Given the description of an element on the screen output the (x, y) to click on. 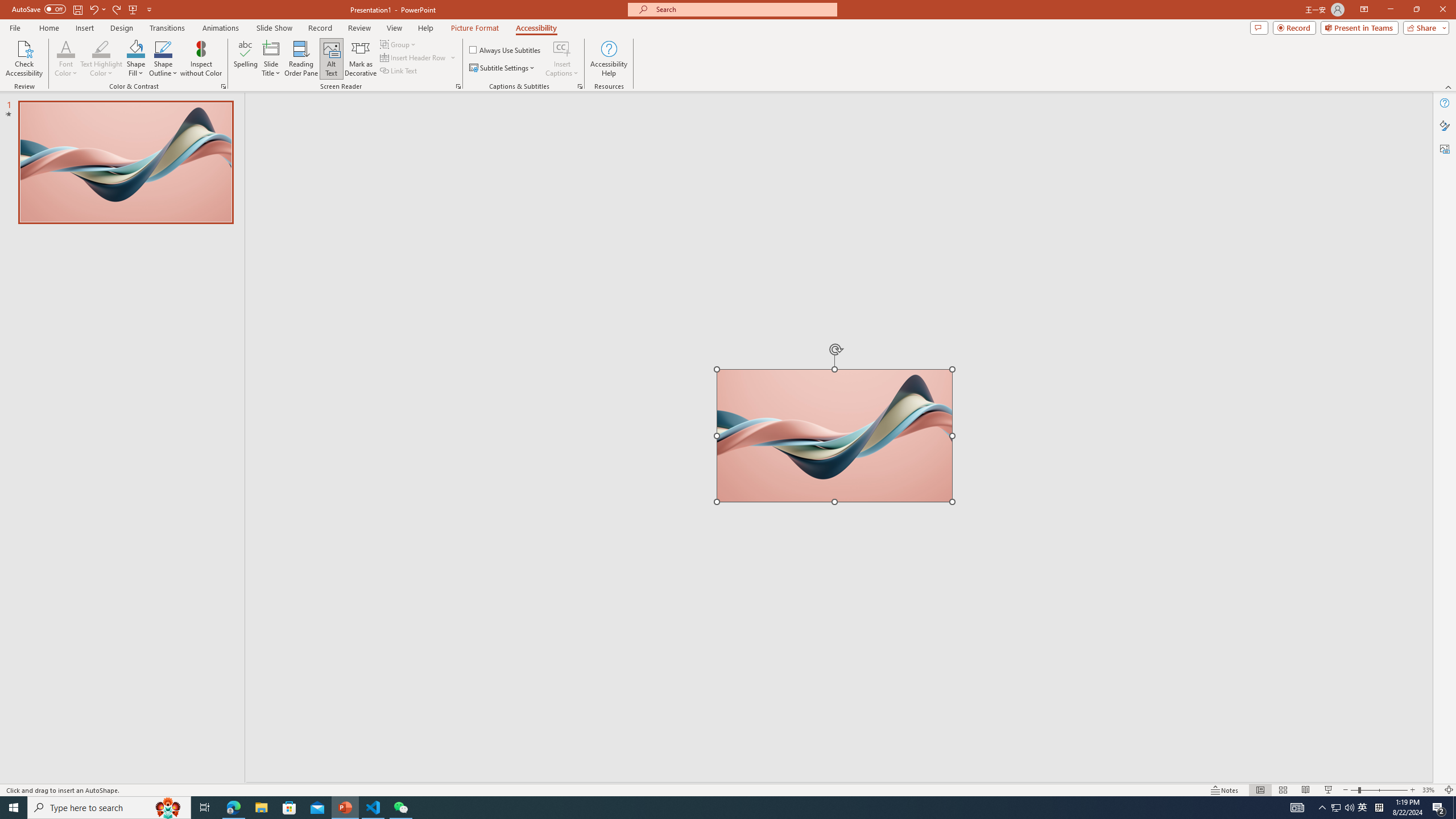
Wavy 3D art (834, 435)
Color & Contrast (223, 85)
